Given the description of an element on the screen output the (x, y) to click on. 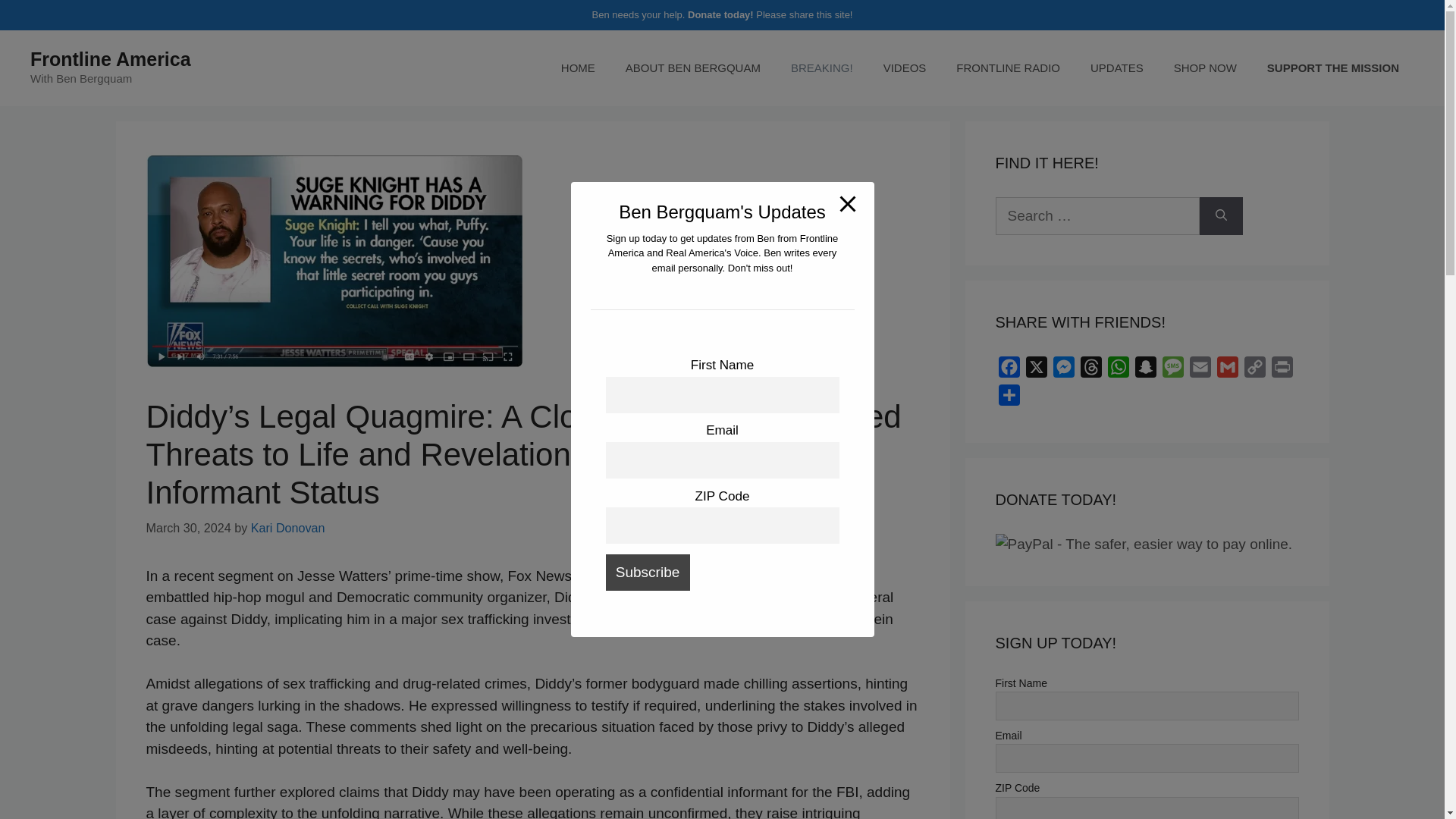
Kari Donovan (287, 527)
ABOUT BEN BERGQUAM (693, 67)
Message (1172, 370)
Frontline America (110, 58)
Ben on the radio (1007, 67)
BREAKING! (821, 67)
WhatsApp (1117, 370)
UPDATES (1116, 67)
FRONTLINE RADIO (1007, 67)
Messenger (1063, 370)
VIDEOS (904, 67)
Shocking videos from Frontline America (904, 67)
View all posts by Kari Donovan (287, 527)
Snapchat (1144, 370)
Donate today (718, 14)
